Given the description of an element on the screen output the (x, y) to click on. 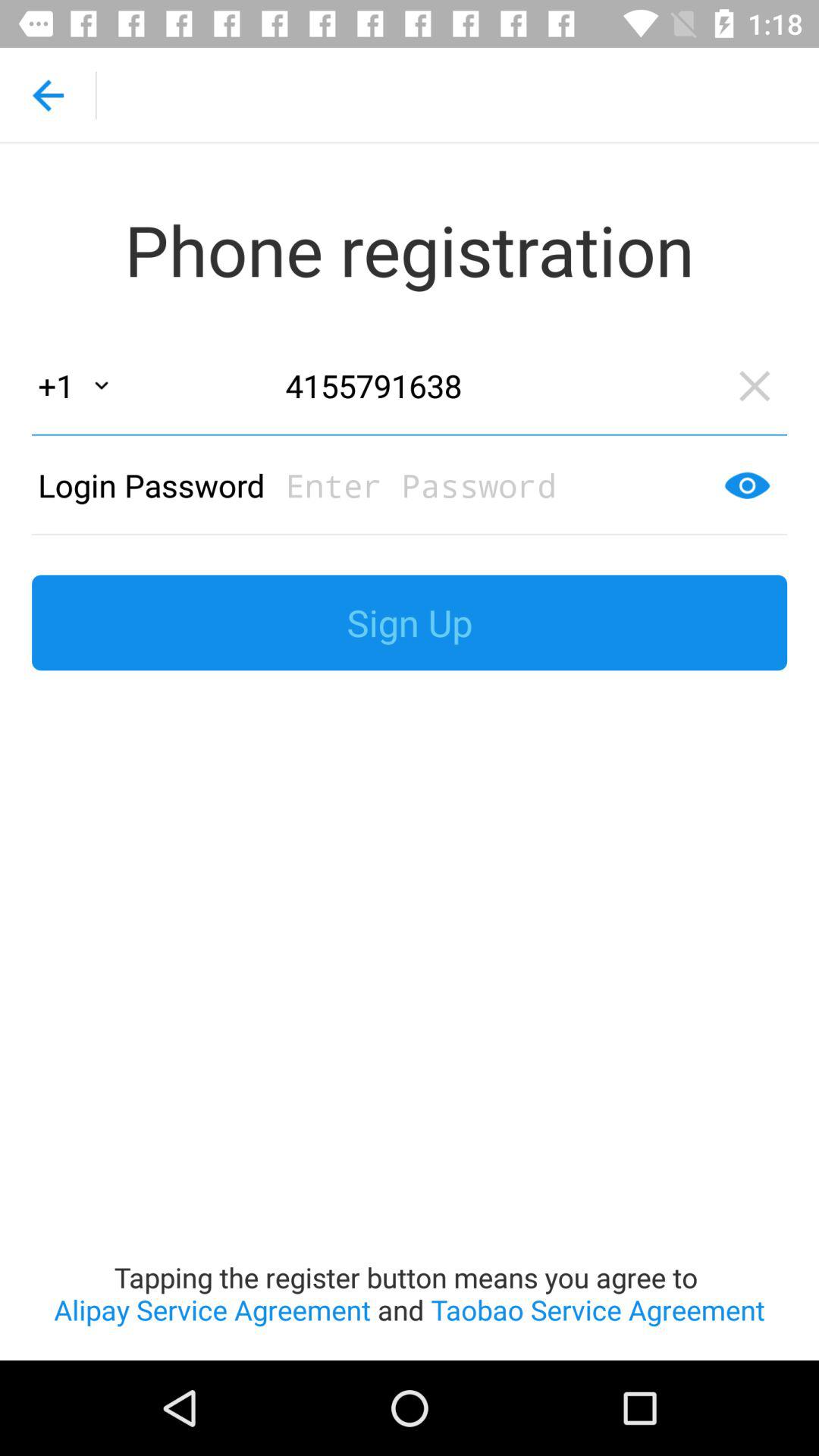
flip until tapping the register (409, 1024)
